Given the description of an element on the screen output the (x, y) to click on. 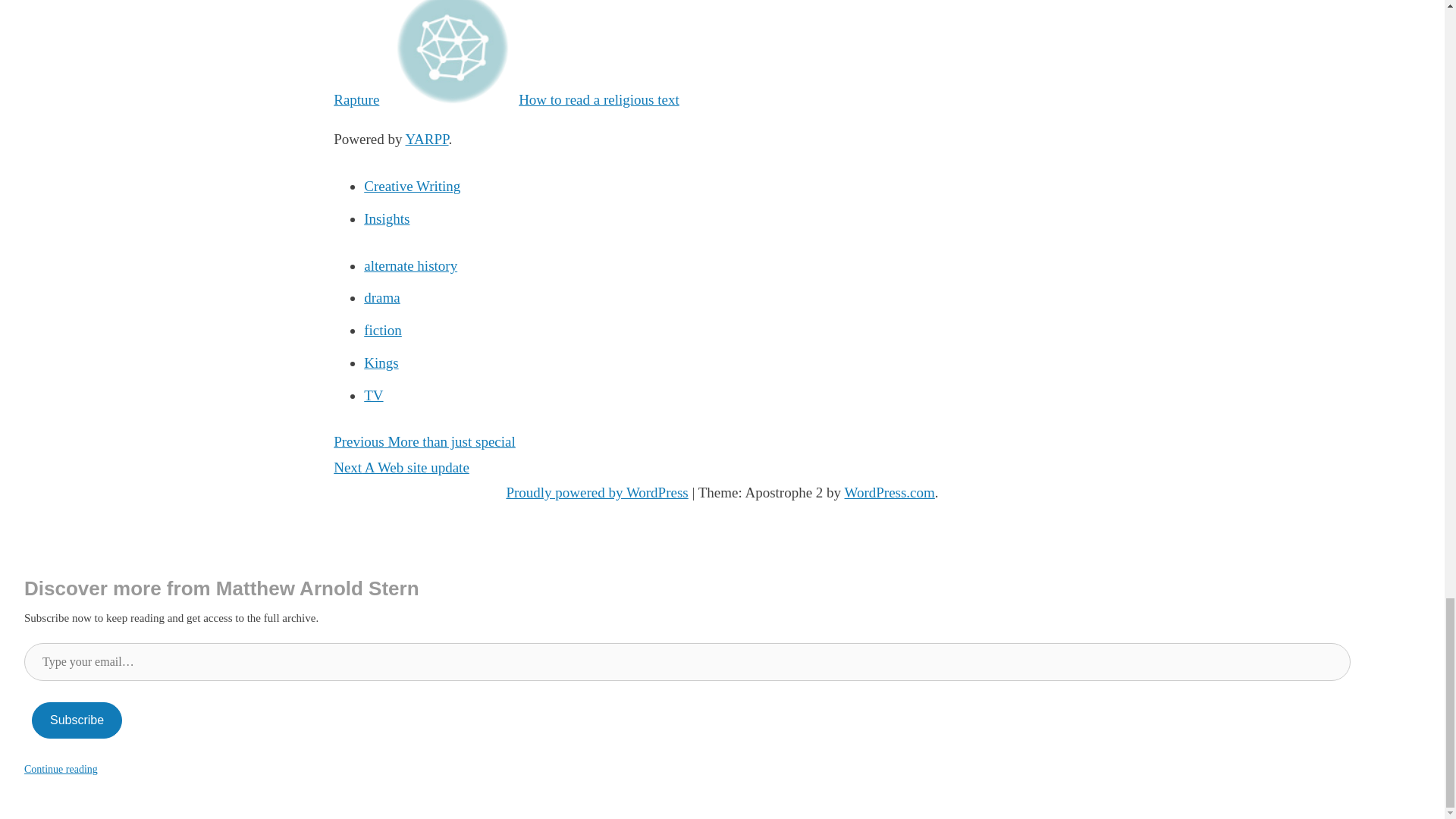
The trouble with Rapture (571, 53)
The trouble with Rapture (571, 53)
How to read a religious text (537, 99)
WordPress Related Posts (426, 139)
How to read a religious text (537, 99)
